Given the description of an element on the screen output the (x, y) to click on. 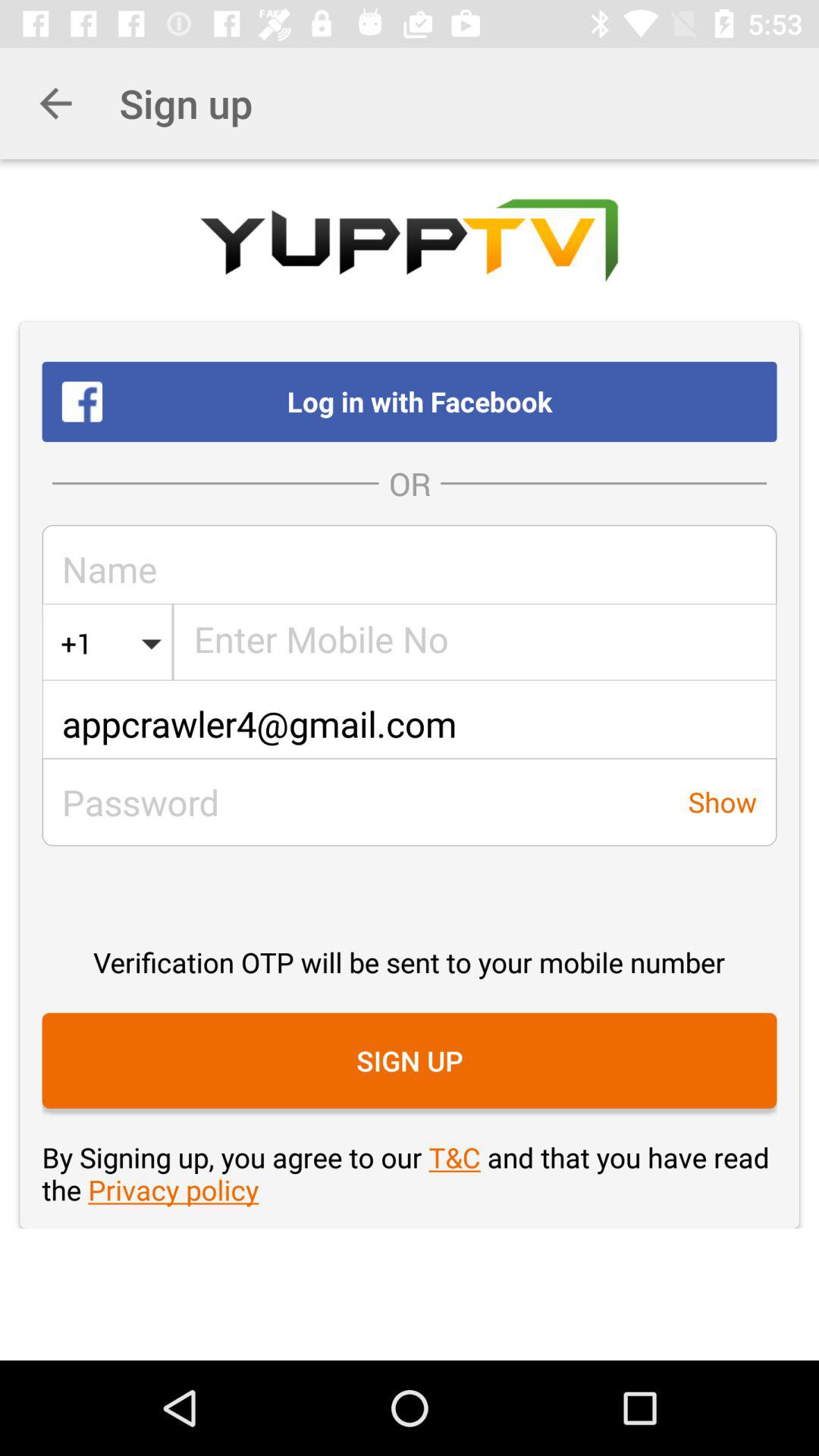
enter your mobile number to log in (475, 643)
